Given the description of an element on the screen output the (x, y) to click on. 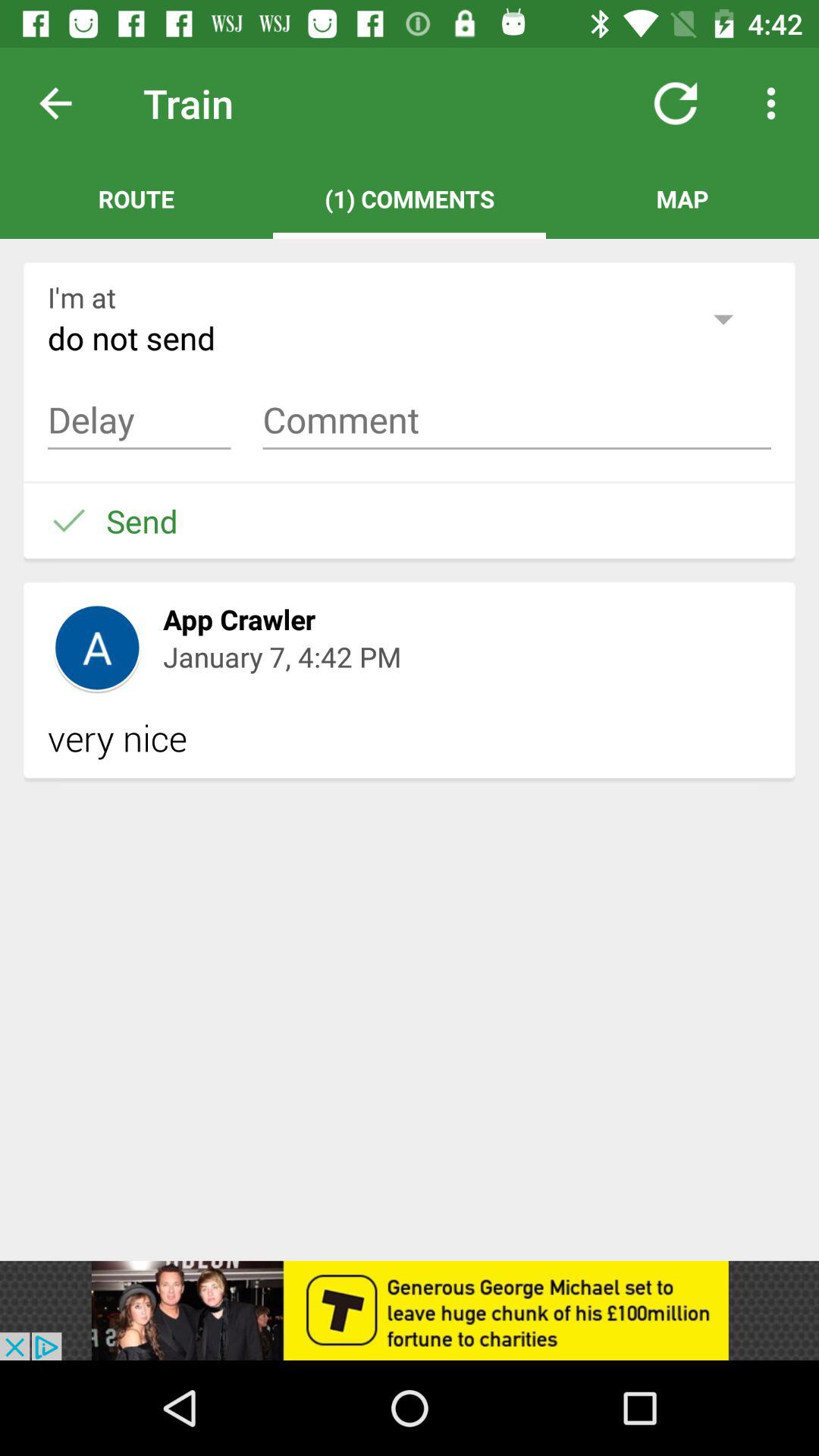
delay (138, 420)
